Given the description of an element on the screen output the (x, y) to click on. 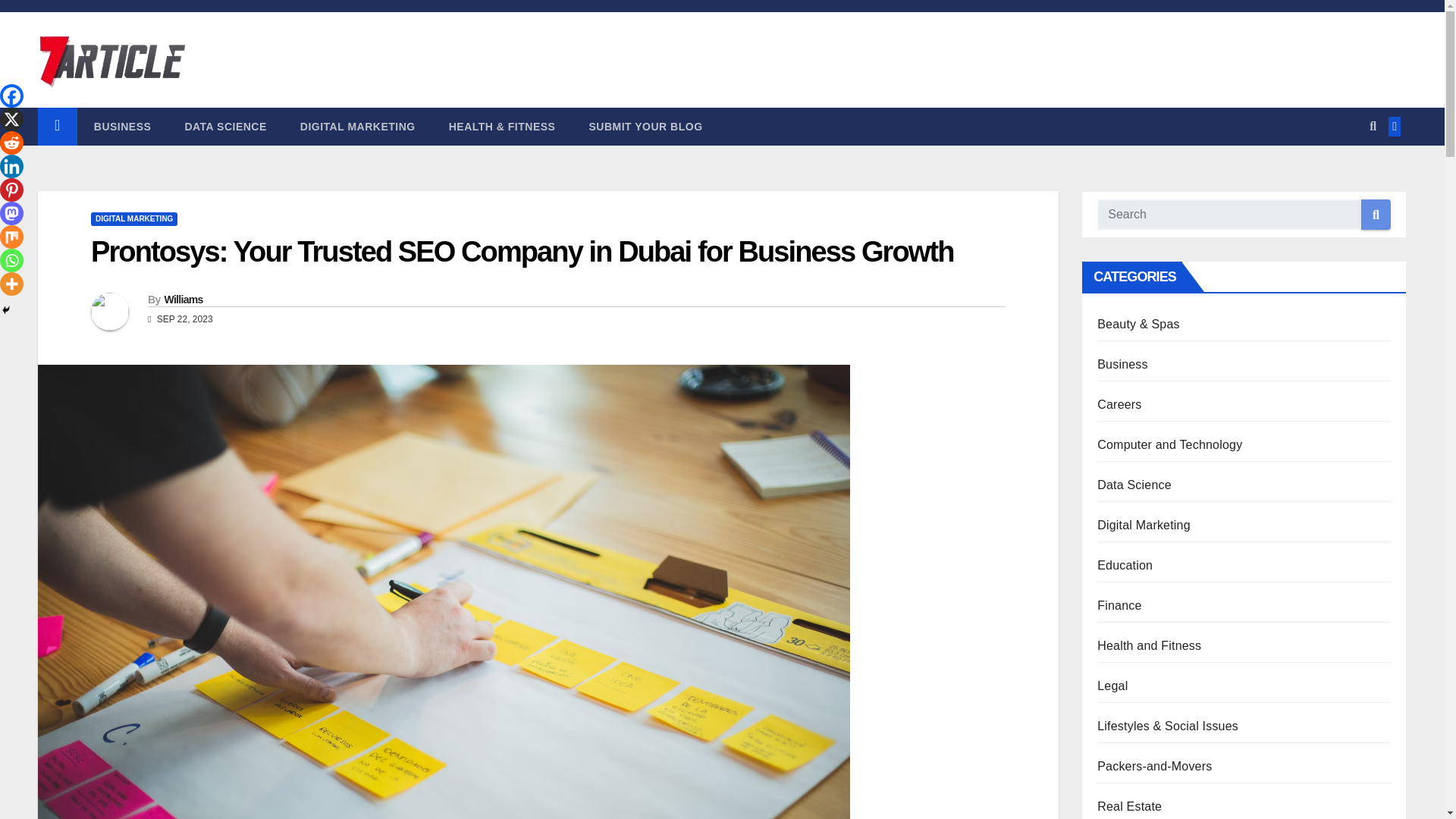
SUBMIT YOUR BLOG (645, 126)
Williams (182, 299)
Business (122, 126)
DATA SCIENCE (224, 126)
Digital Marketing (357, 126)
BUSINESS (122, 126)
DIGITAL MARKETING (357, 126)
Data Science (224, 126)
DIGITAL MARKETING (133, 219)
Submit Your Blog (645, 126)
